Given the description of an element on the screen output the (x, y) to click on. 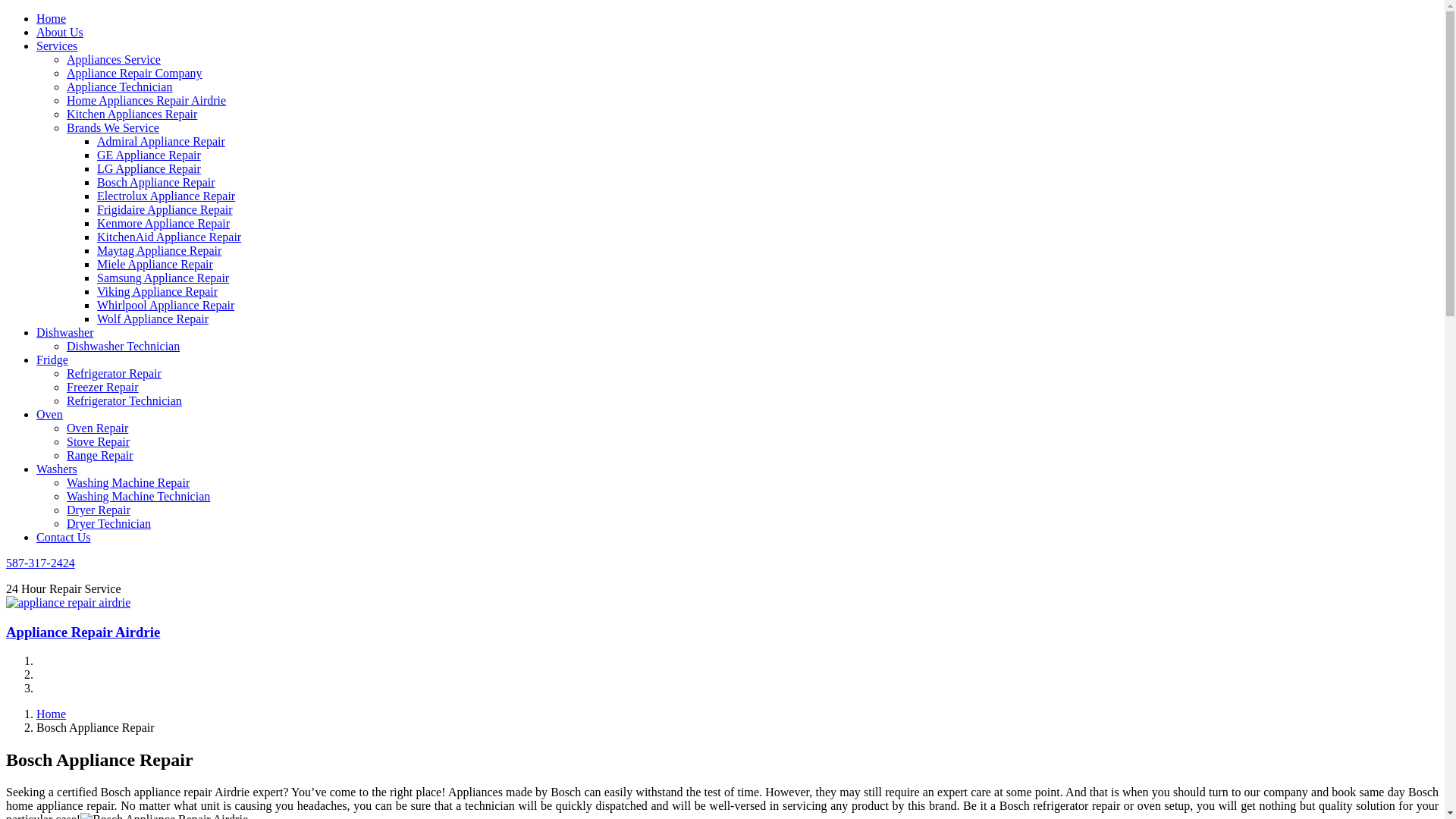
LG Appliance Repair Element type: text (148, 168)
Oven Repair Element type: text (97, 427)
Bosch Appliance Repair Element type: text (156, 181)
Dryer Technician Element type: text (108, 523)
Brands We Service Element type: text (112, 127)
Whirlpool Appliance Repair Element type: text (165, 304)
Dishwasher Technician Element type: text (122, 345)
Washers Element type: text (56, 468)
Electrolux Appliance Repair Element type: text (166, 195)
Washing Machine Repair Element type: text (127, 482)
Appliances Service Element type: text (113, 59)
Dishwasher Element type: text (65, 332)
Kenmore Appliance Repair Element type: text (163, 222)
Maytag Appliance Repair Element type: text (159, 250)
About Us Element type: text (59, 31)
Dryer Repair Element type: text (98, 509)
Appliance Repair Company Element type: text (134, 72)
KitchenAid Appliance Repair Element type: text (169, 236)
Home Element type: text (50, 713)
Range Repair Element type: text (99, 454)
Appliance Technician Element type: text (119, 86)
Services Element type: text (56, 45)
Wolf Appliance Repair Element type: text (152, 318)
Miele Appliance Repair Element type: text (155, 263)
Viking Appliance Repair Element type: text (157, 291)
Oven Element type: text (49, 413)
Appliance Repair Airdrie Element type: text (83, 632)
Contact Us Element type: text (63, 536)
GE Appliance Repair Element type: text (148, 154)
587-317-2424 Element type: text (40, 562)
Home Element type: text (50, 18)
Freezer Repair Element type: text (102, 386)
Fridge Element type: text (52, 359)
Samsung Appliance Repair Element type: text (163, 277)
Frigidaire Appliance Repair Element type: text (164, 209)
Stove Repair Element type: text (97, 441)
Refrigerator Repair Element type: text (113, 373)
Kitchen Appliances Repair Element type: text (131, 113)
Washing Machine Technician Element type: text (138, 495)
Admiral Appliance Repair Element type: text (161, 140)
Home Appliances Repair Airdrie Element type: text (145, 100)
Refrigerator Technician Element type: text (124, 400)
